Given the description of an element on the screen output the (x, y) to click on. 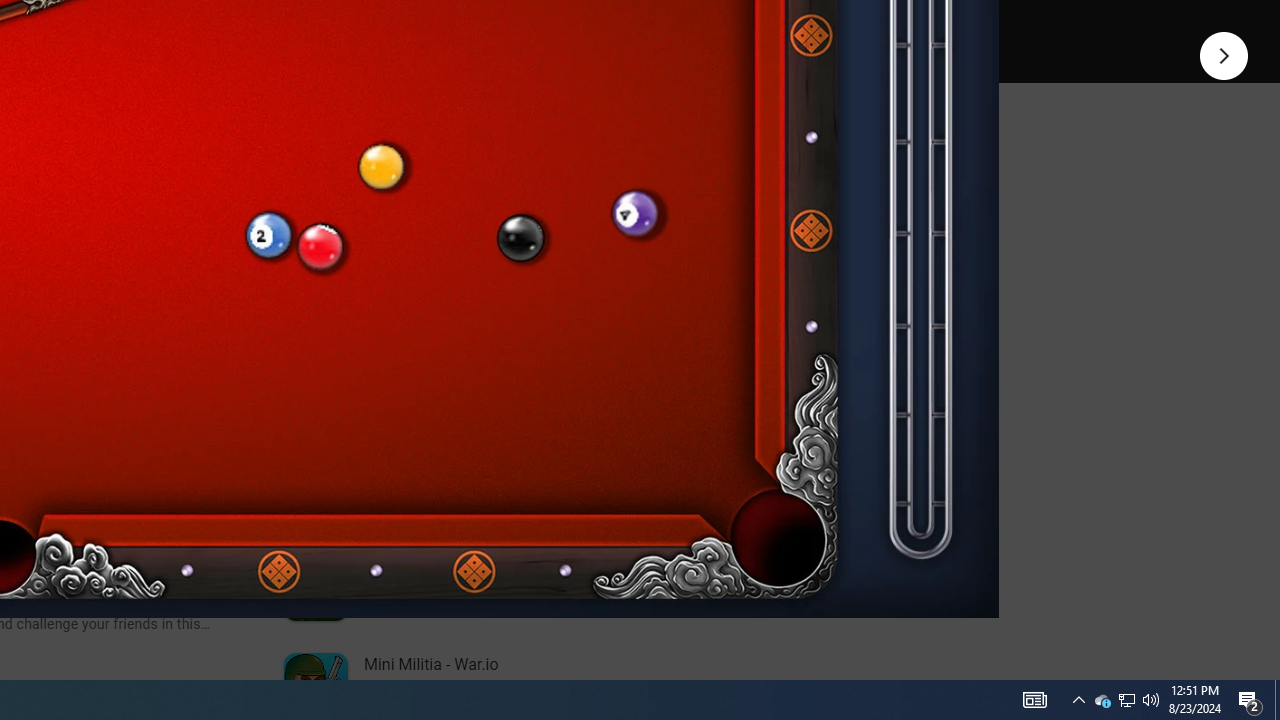
See more information on More by Miniclip.com (530, 229)
Scroll Next (212, 272)
Expand (441, 155)
Next (1224, 54)
Play trailer (587, 24)
